Given the description of an element on the screen output the (x, y) to click on. 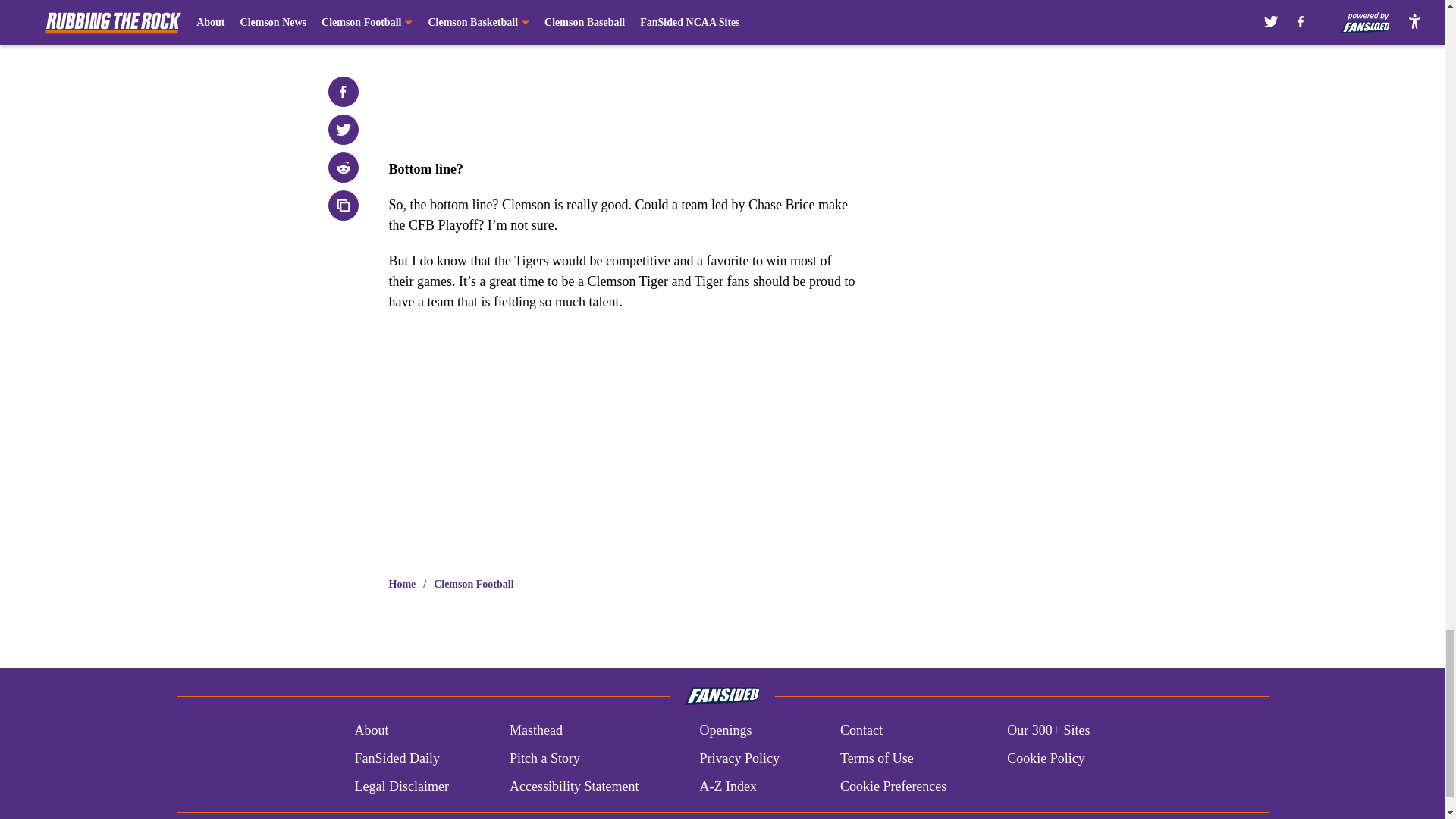
Home (401, 584)
Pitch a Story (544, 758)
Contact (861, 730)
Clemson Football (473, 584)
Cookie Policy (1045, 758)
Masthead (535, 730)
Privacy Policy (738, 758)
FanSided Daily (396, 758)
About (370, 730)
Terms of Use (877, 758)
Openings (724, 730)
